Given the description of an element on the screen output the (x, y) to click on. 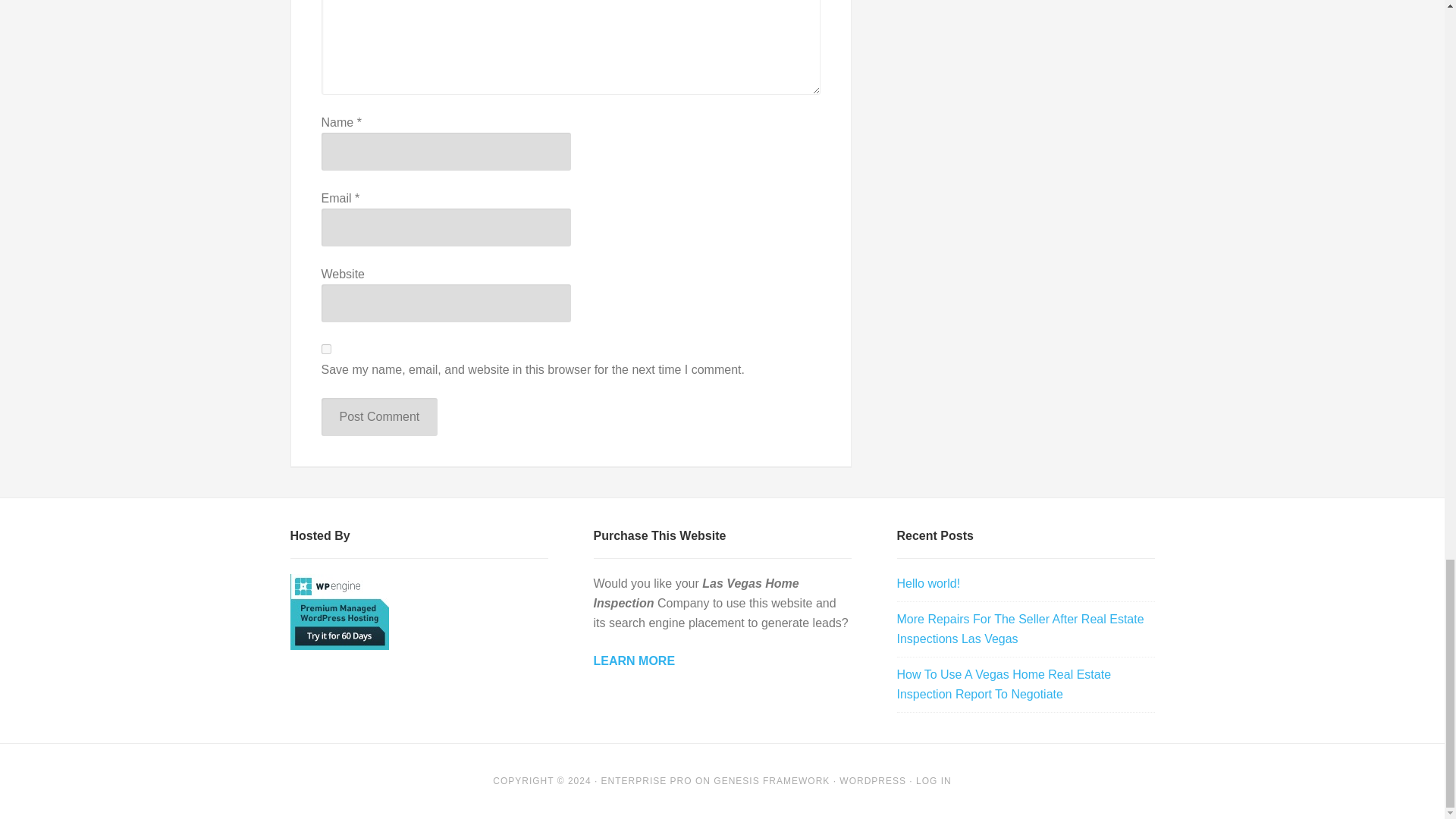
yes (326, 348)
WORDPRESS (872, 780)
Hello world! (927, 583)
ENTERPRISE PRO (647, 780)
LOG IN (933, 780)
Post Comment (379, 416)
GENESIS FRAMEWORK (771, 780)
LEARN MORE (633, 660)
